Given the description of an element on the screen output the (x, y) to click on. 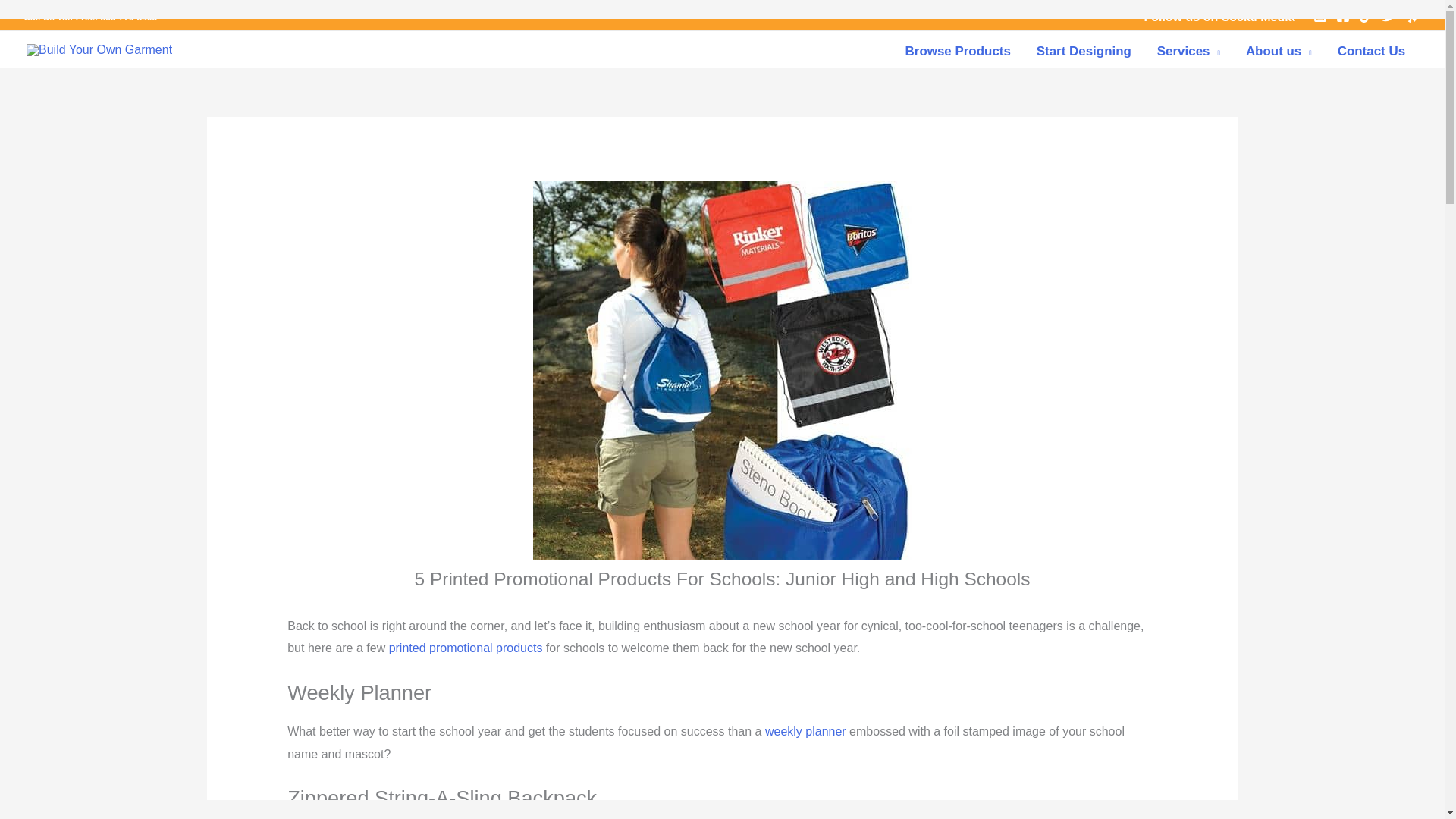
About us (1278, 51)
Follow us on Social Media  (1220, 17)
Start Designing (1083, 51)
855-776-8465 (128, 17)
Contact Us (1371, 51)
Browse Products (957, 51)
Services (1188, 51)
